Given the description of an element on the screen output the (x, y) to click on. 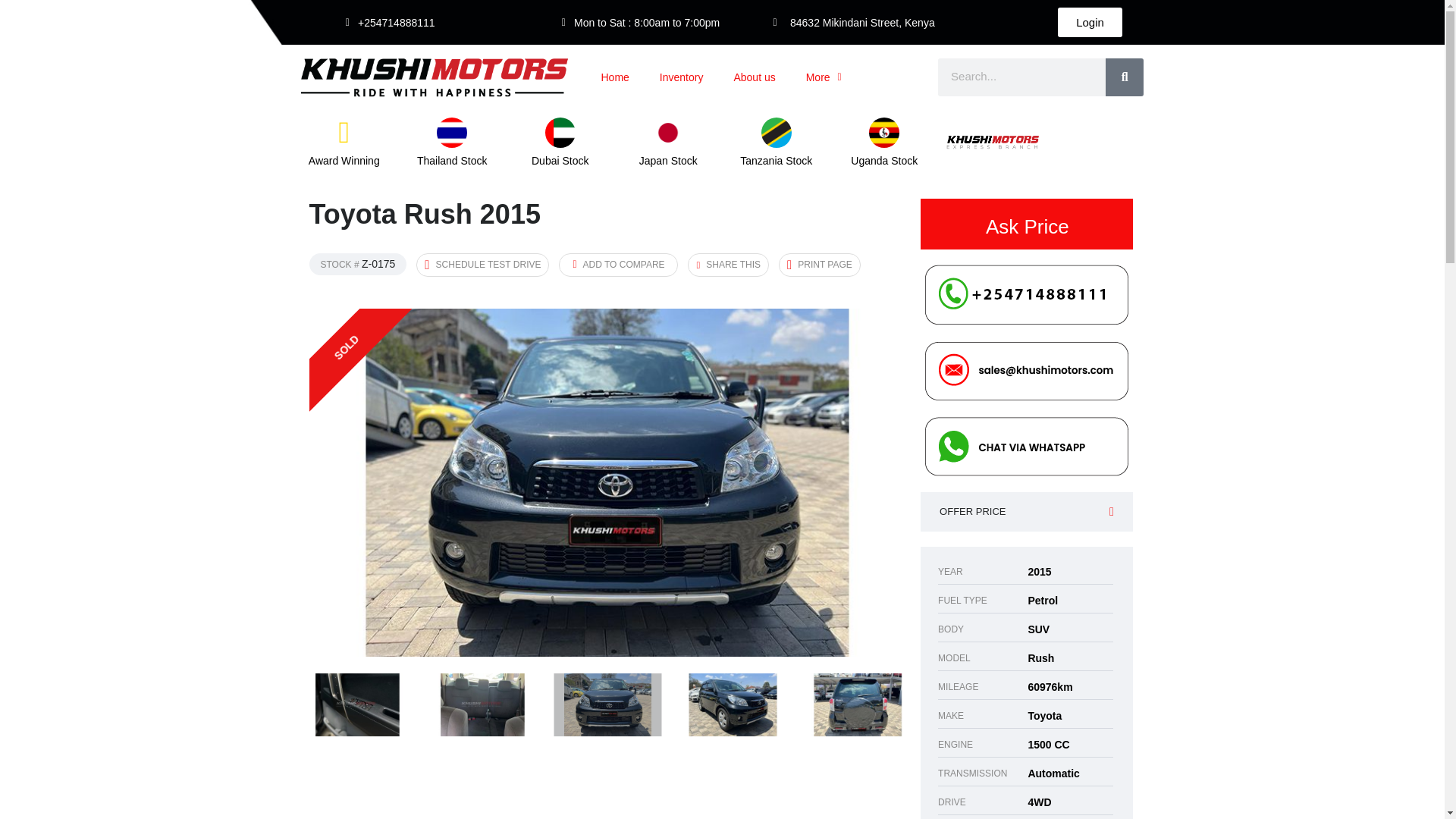
Login (1097, 25)
Inventory (682, 77)
Uganda Stock (883, 160)
About us (753, 77)
Home (614, 77)
Japan Stock (668, 160)
Award Winning (344, 160)
More (823, 77)
Share this (727, 264)
Dubai Stock (559, 160)
Tanzania Stock (775, 160)
Thailand Stock (451, 160)
SCHEDULE TEST DRIVE (482, 264)
